Given the description of an element on the screen output the (x, y) to click on. 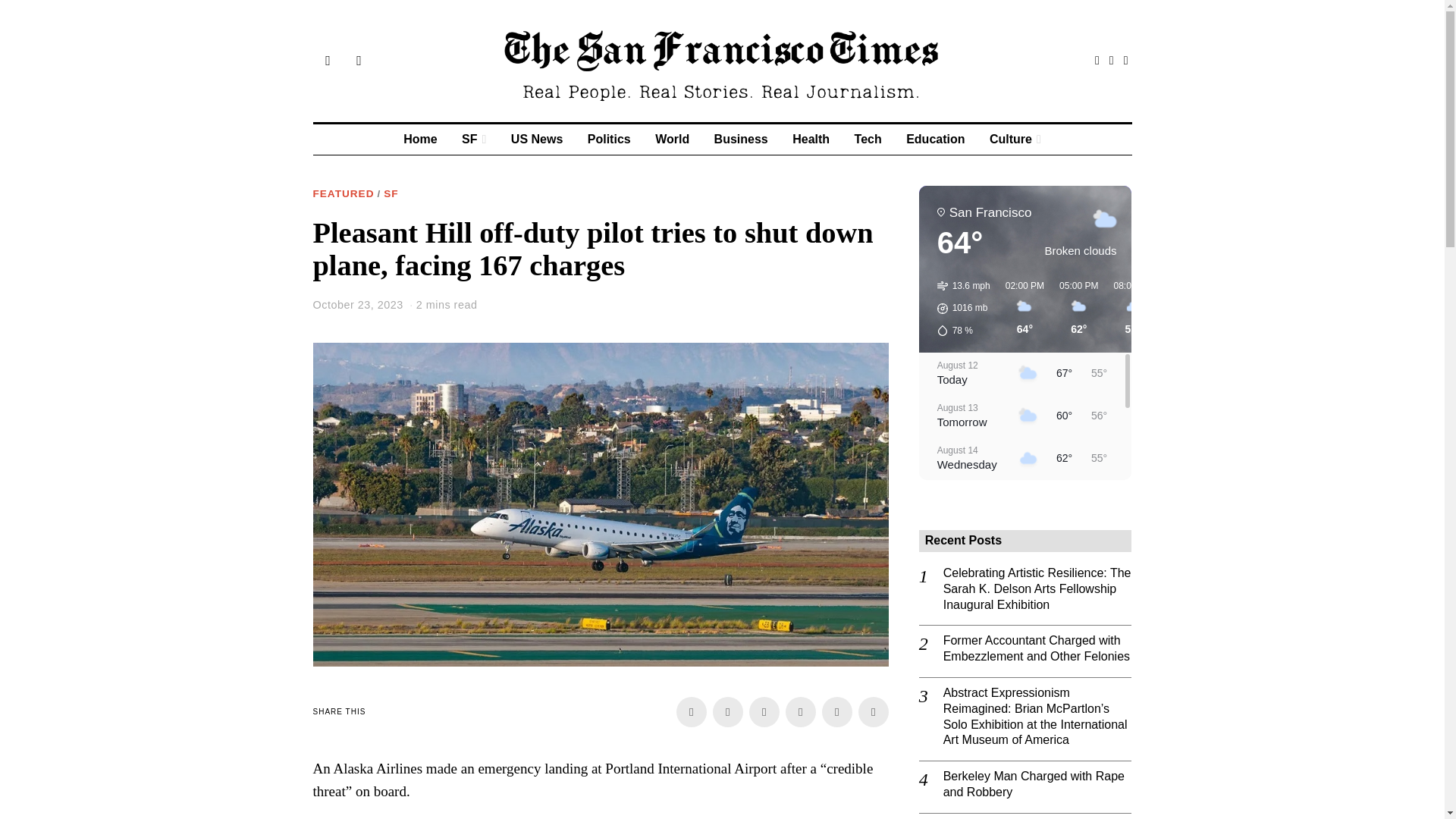
Business (740, 139)
FEATURED (343, 194)
Pressure (963, 308)
Culture (1014, 139)
Education (935, 139)
Health (810, 139)
World (672, 139)
Tech (868, 139)
Wind (963, 285)
